Given the description of an element on the screen output the (x, y) to click on. 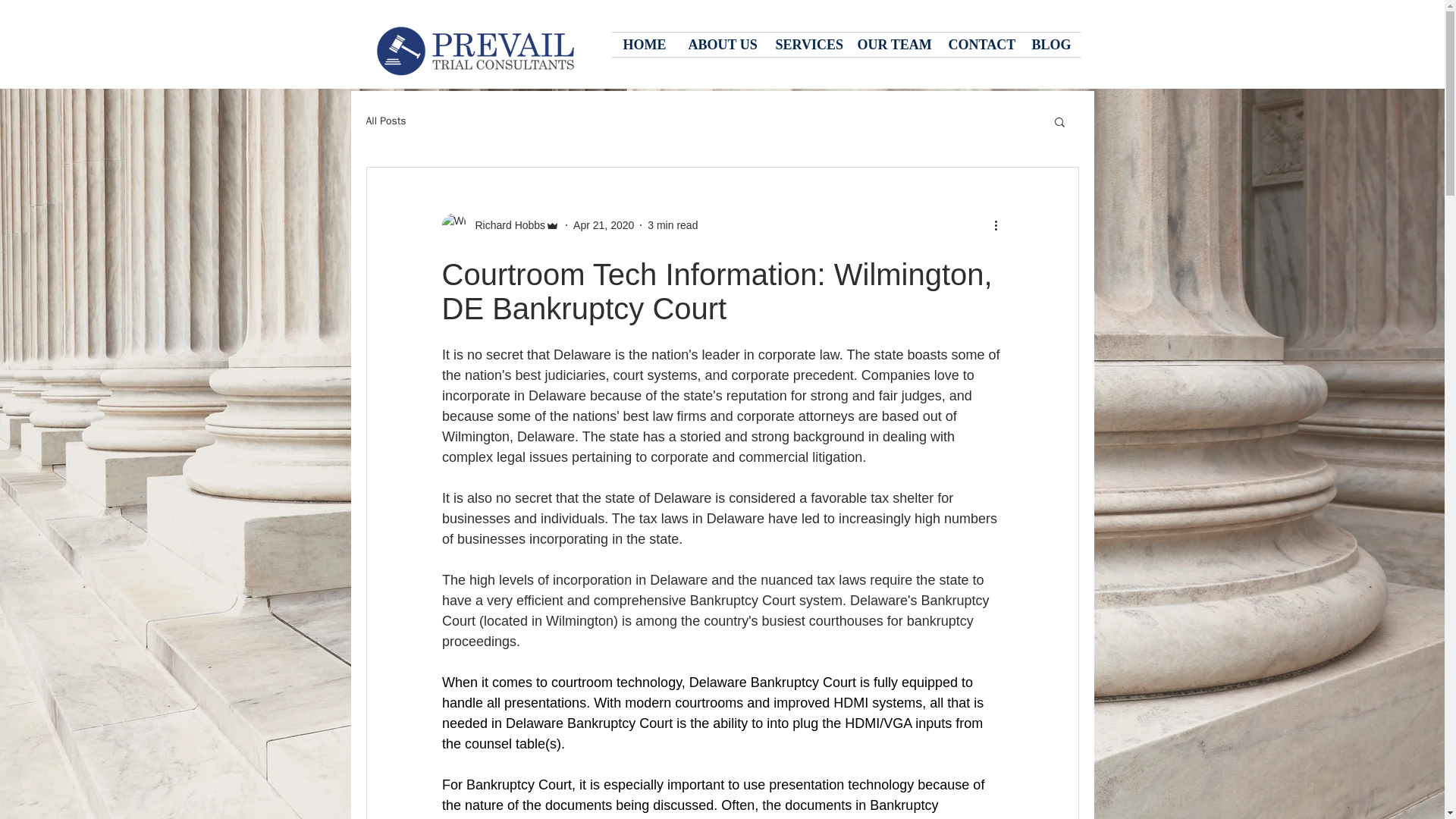
All Posts (385, 120)
Apr 21, 2020 (603, 224)
CONTACT (978, 44)
3 min read (672, 224)
Richard Hobbs (500, 224)
BLOG (1050, 44)
ABOUT US (719, 44)
SERVICES (804, 44)
Richard Hobbs (504, 224)
HOME (644, 44)
OUR TEAM (891, 44)
